Given the description of an element on the screen output the (x, y) to click on. 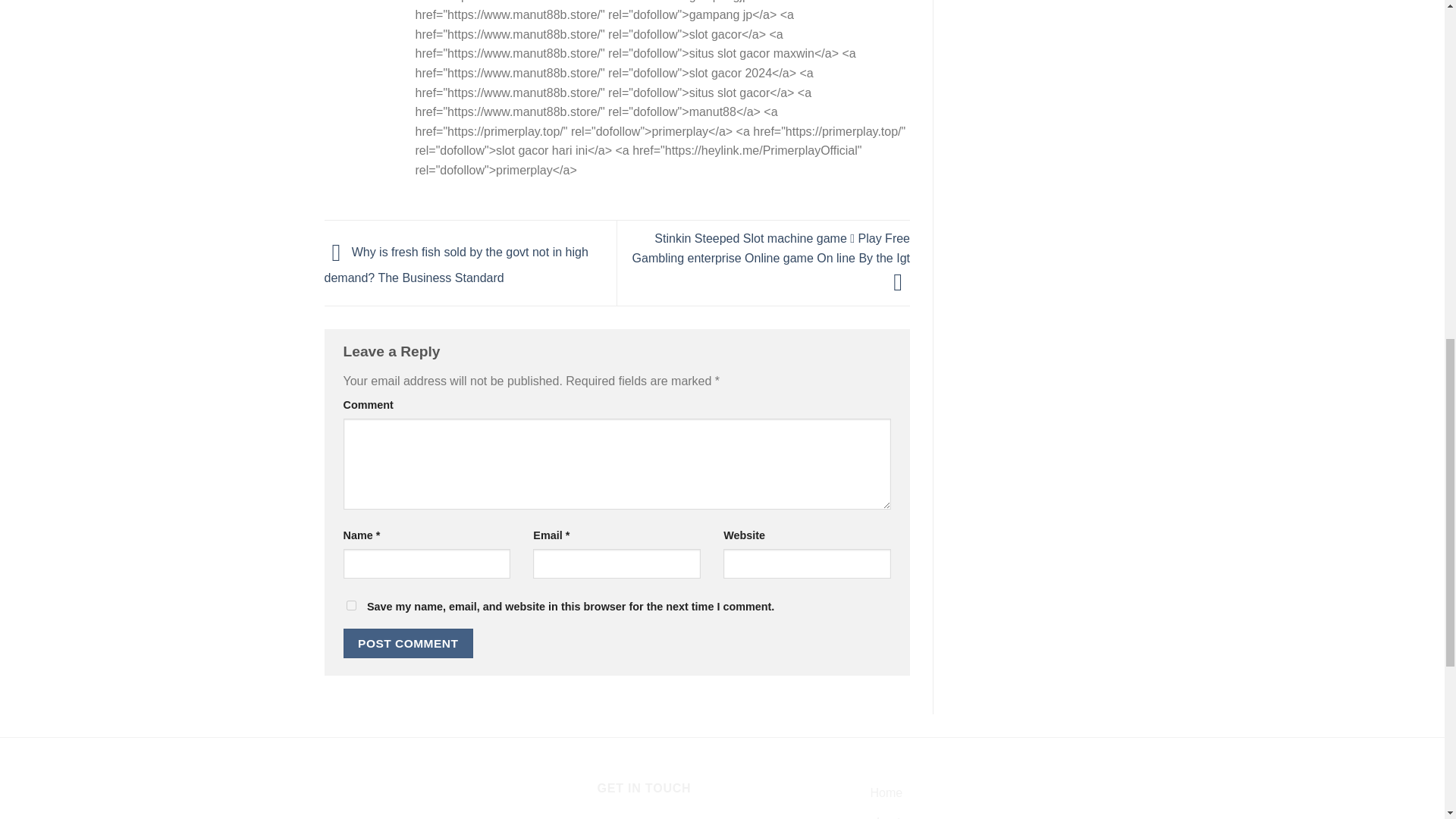
yes (350, 605)
Post Comment (407, 643)
Post Comment (407, 643)
